Given the description of an element on the screen output the (x, y) to click on. 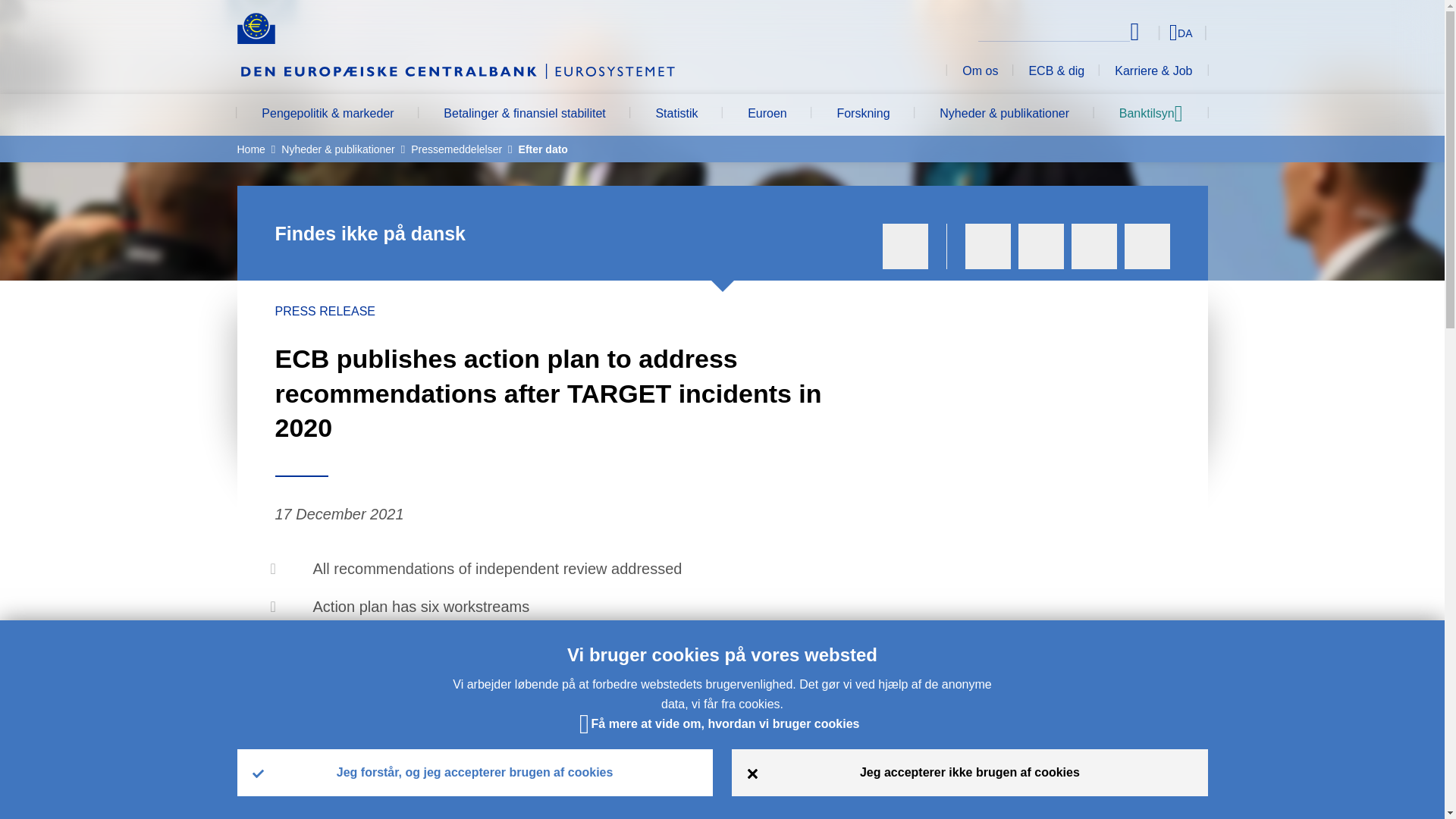
Select language (1153, 32)
